Given the description of an element on the screen output the (x, y) to click on. 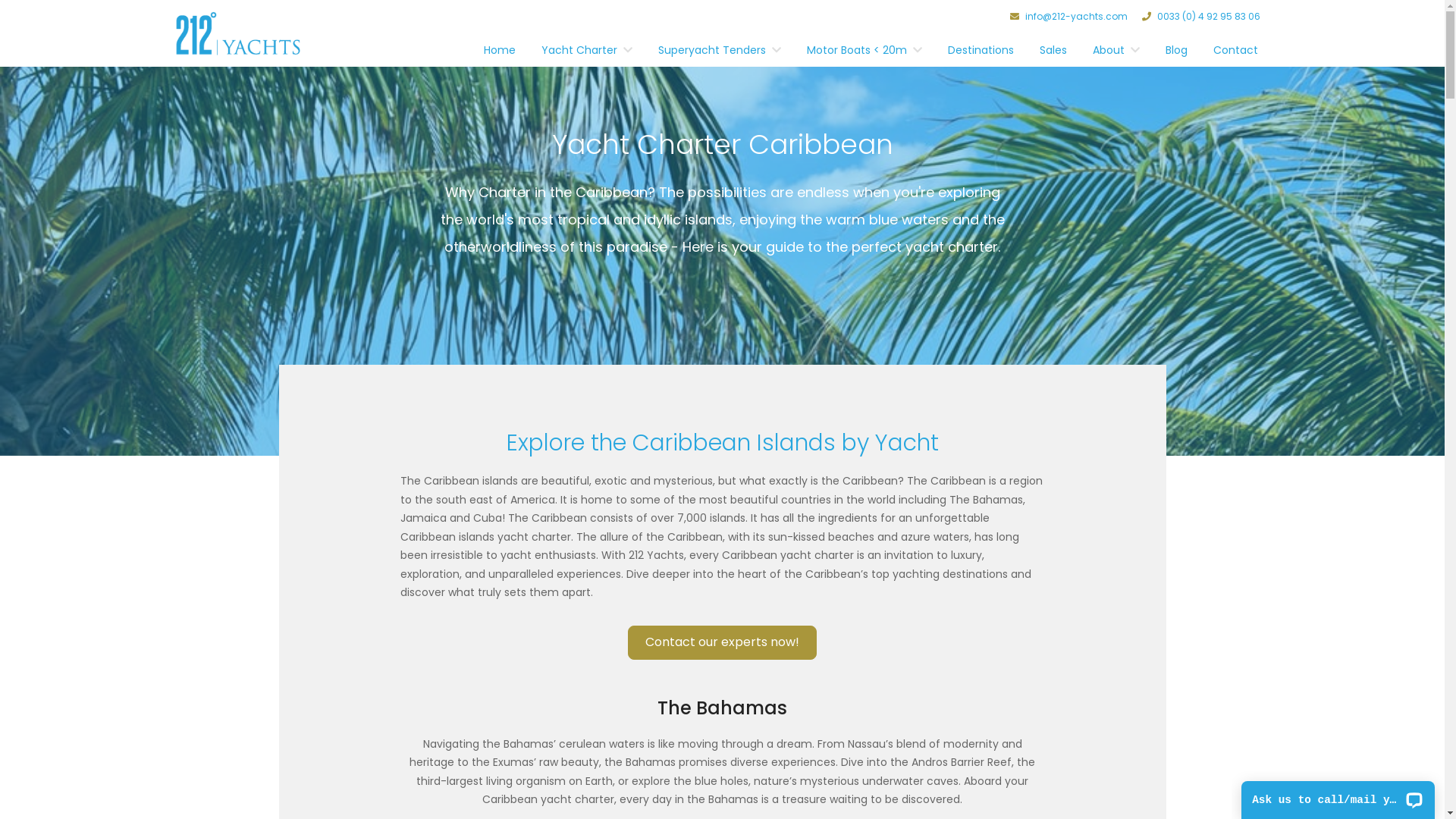
Yacht Charter Element type: text (579, 53)
Contact Element type: text (1235, 53)
About Element type: text (1108, 53)
info@212-yachts.com Element type: text (1068, 15)
Contact our experts now! Element type: text (721, 648)
0033 (0) 4 92 95 83 06 Element type: text (1201, 15)
Blog Element type: text (1176, 53)
Home Element type: text (499, 53)
Contact our experts now! Element type: text (721, 642)
Superyacht Tenders Element type: text (711, 53)
Destinations Element type: text (980, 53)
Motor Boats < 20m Element type: text (856, 53)
Skip to content Element type: text (0, 64)
Sales Element type: text (1052, 53)
